Given the description of an element on the screen output the (x, y) to click on. 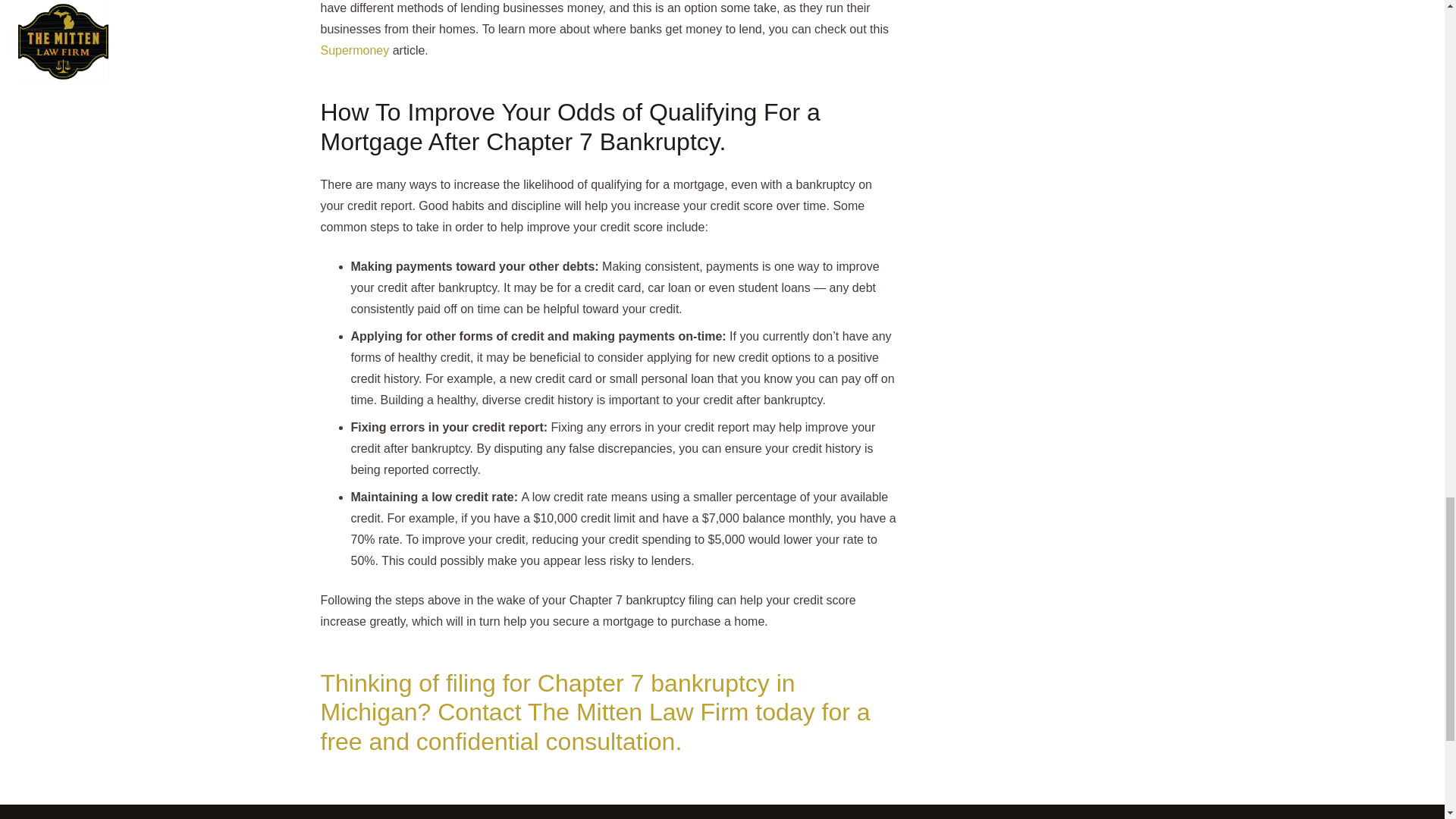
Supermoney (354, 50)
